Given the description of an element on the screen output the (x, y) to click on. 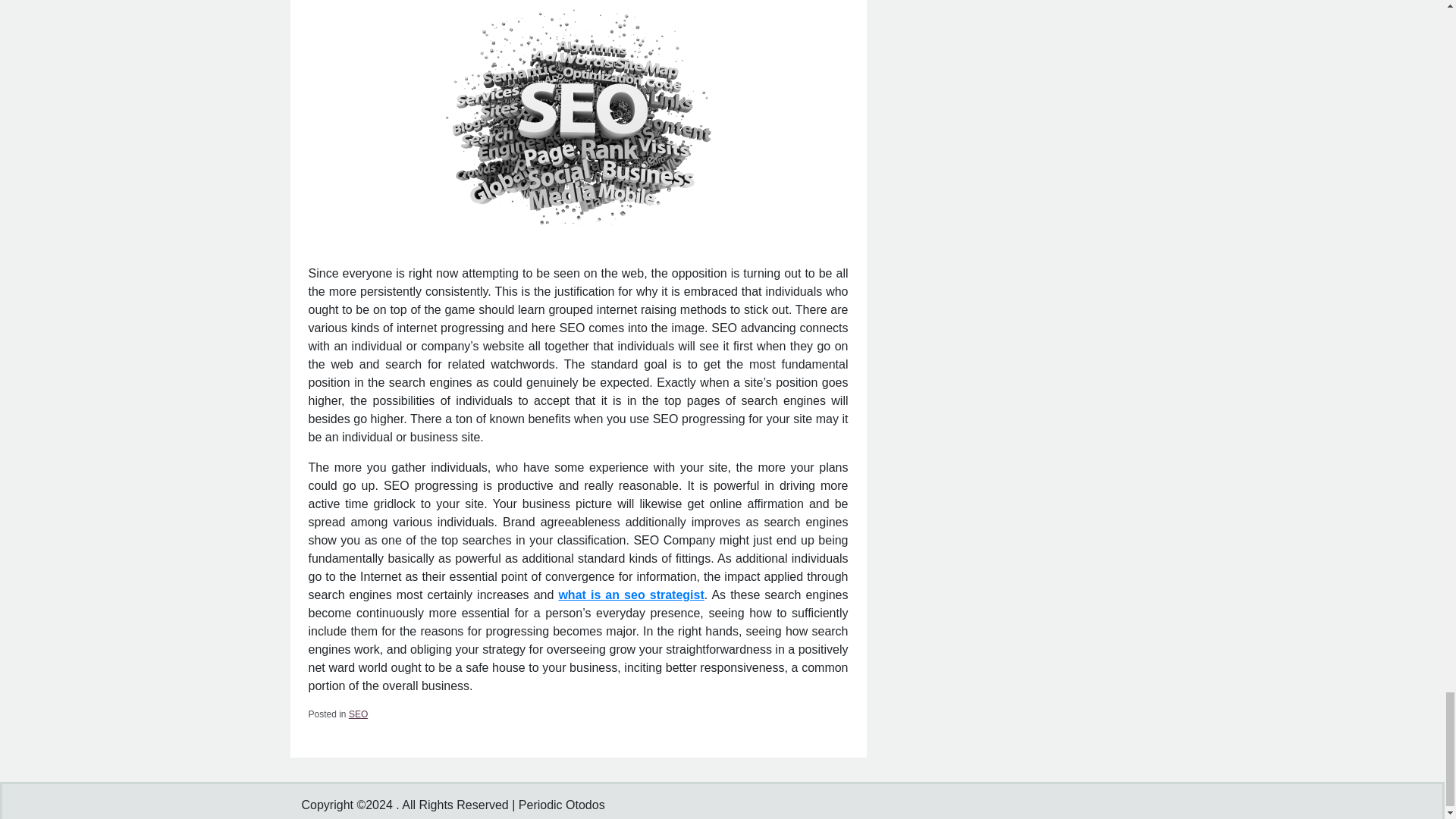
what is an seo strategist (630, 594)
SEO (358, 714)
